Given the description of an element on the screen output the (x, y) to click on. 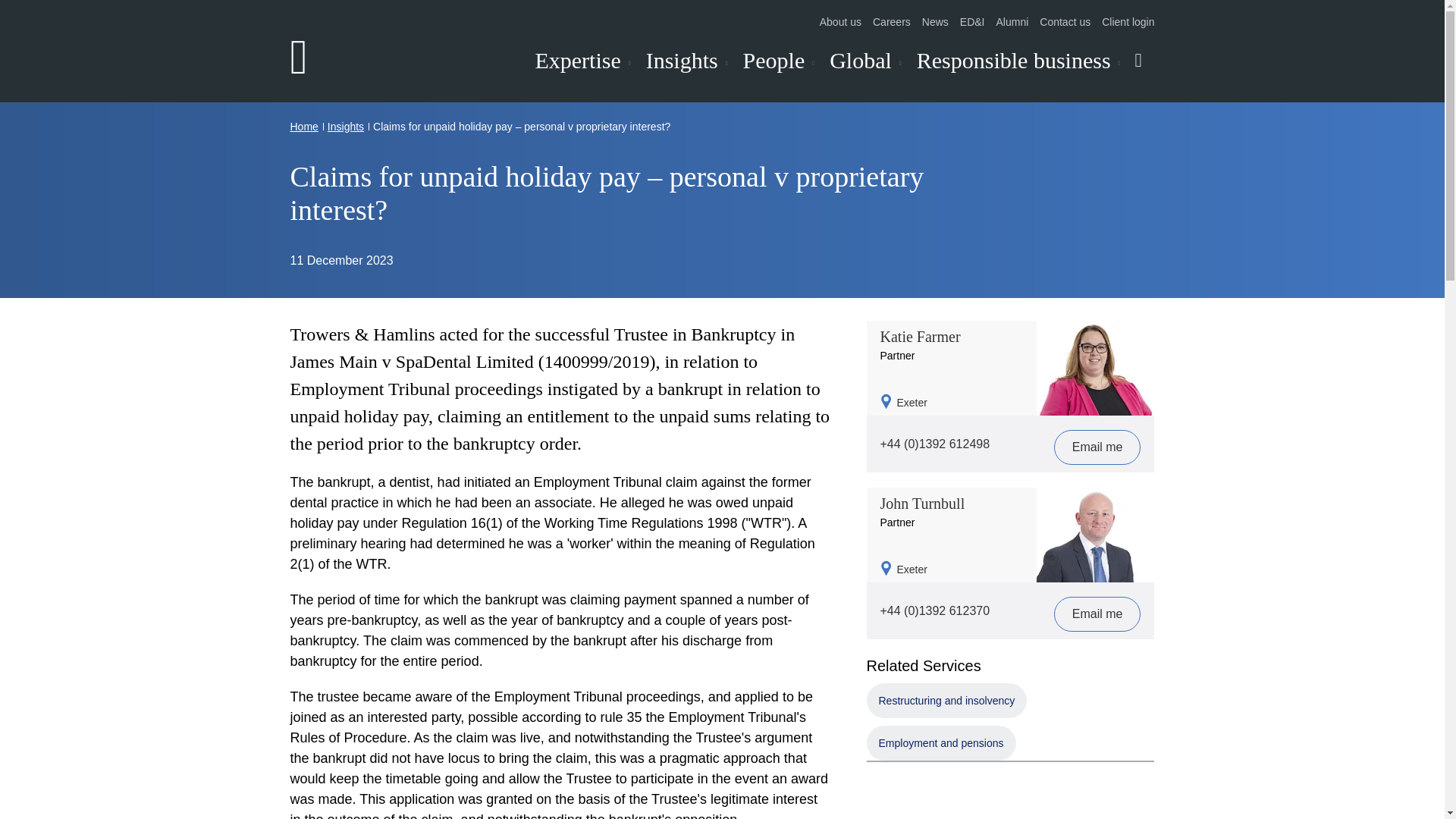
Client login (1128, 21)
Contact us (1064, 21)
News (935, 21)
Careers (891, 21)
About us (840, 21)
Alumni (1012, 21)
